Given the description of an element on the screen output the (x, y) to click on. 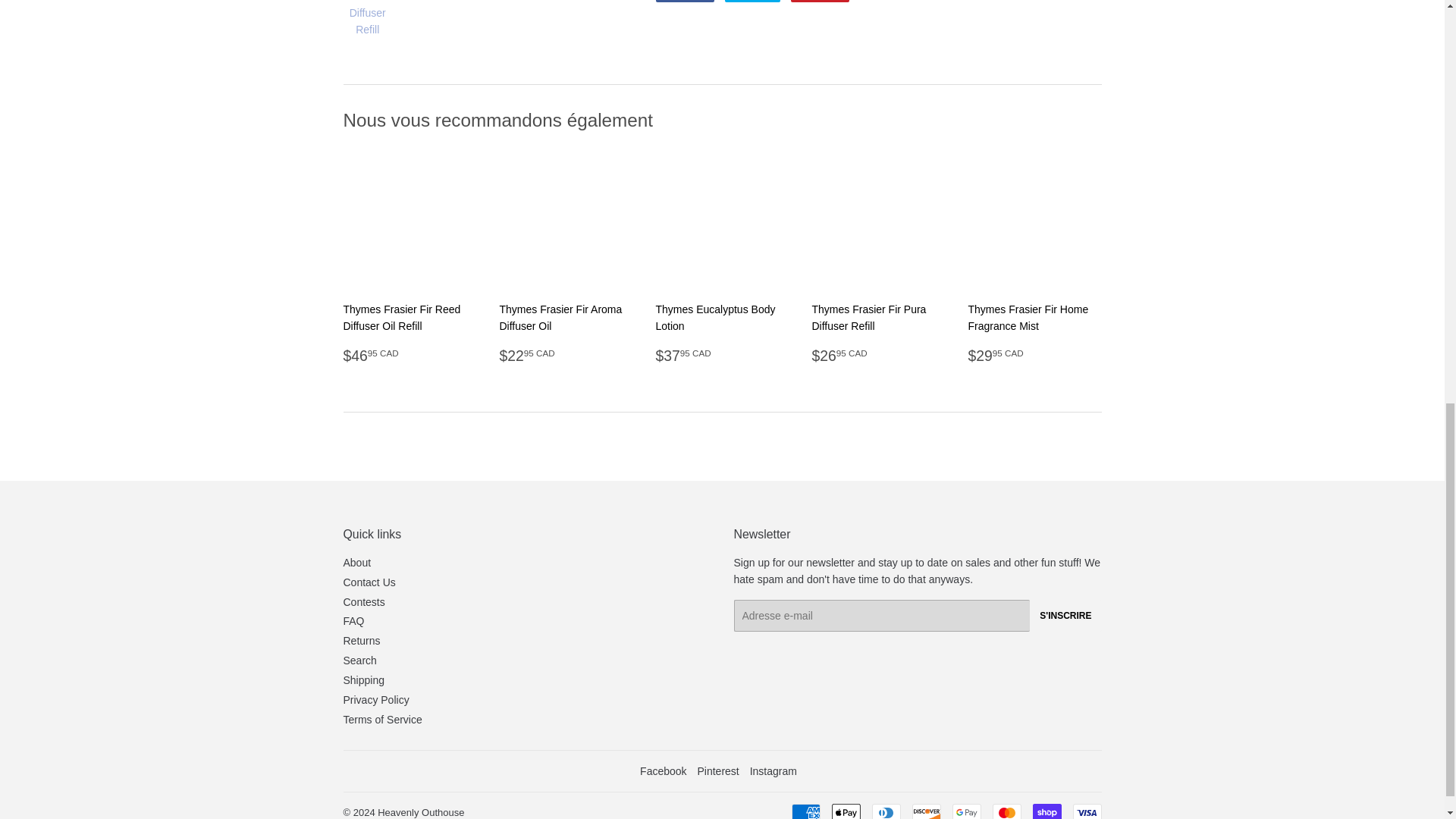
Heavenly Outhouse sur Pinterest (717, 770)
Mastercard (1005, 811)
Heavenly Outhouse sur Instagram (772, 770)
American Express (806, 811)
Shop Pay (1046, 811)
Heavenly Outhouse sur Facebook (662, 770)
Diners Club (886, 811)
Discover (925, 811)
Tweeter sur Twitter (752, 1)
Google Pay (966, 811)
Visa (1085, 811)
Partager sur Facebook (684, 1)
Apple Pay (845, 811)
